Given the description of an element on the screen output the (x, y) to click on. 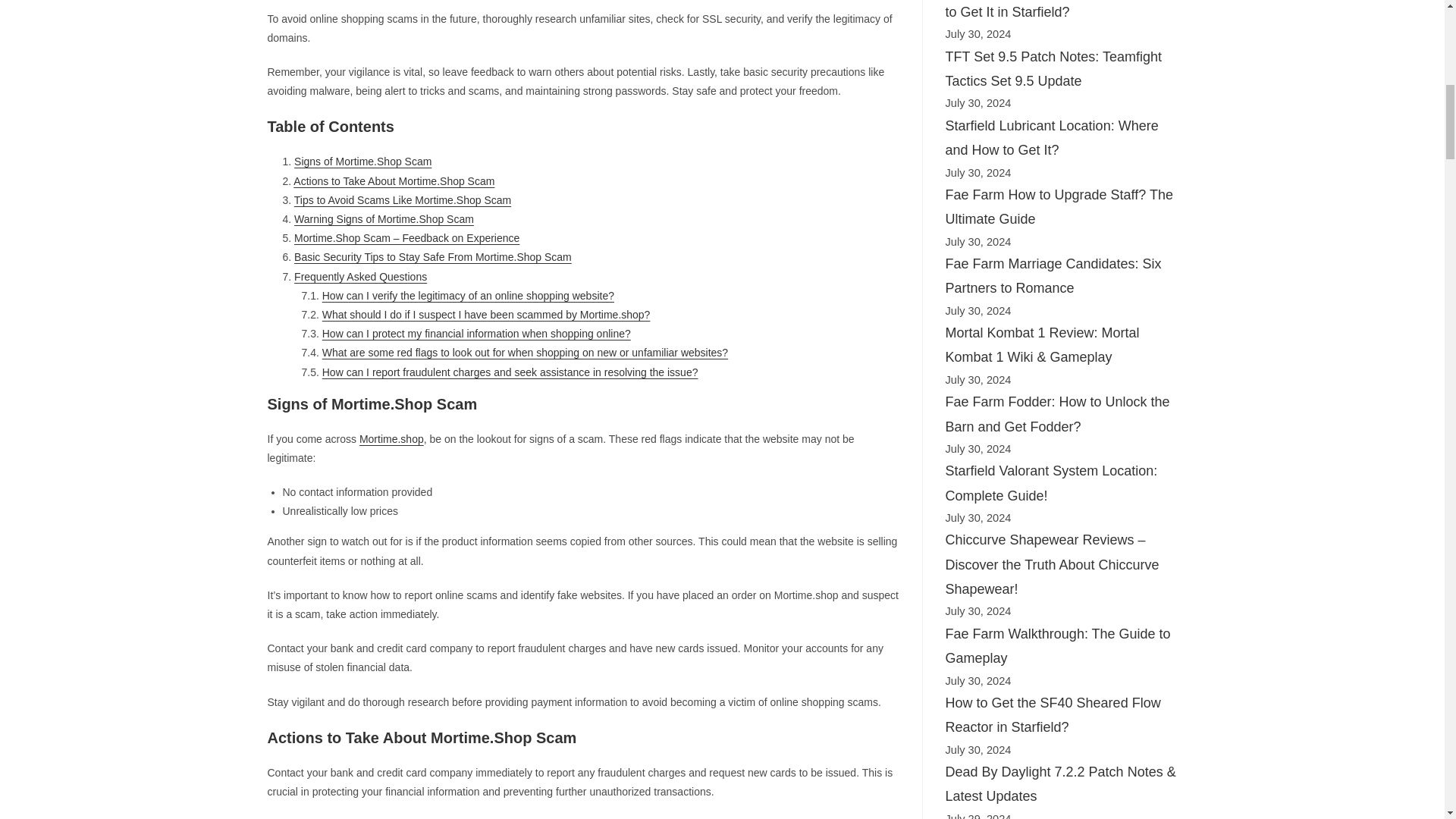
Signs of Mortime.Shop Scam (362, 161)
Mortime.shop (391, 439)
Frequently Asked Questions (360, 276)
Tips to Avoid Scams Like Mortime.Shop Scam (402, 200)
Basic Security Tips to Stay Safe From Mortime.Shop Scam (433, 256)
Actions to Take About Mortime.Shop Scam (394, 181)
Warning Signs of Mortime.Shop Scam (384, 218)
